Given the description of an element on the screen output the (x, y) to click on. 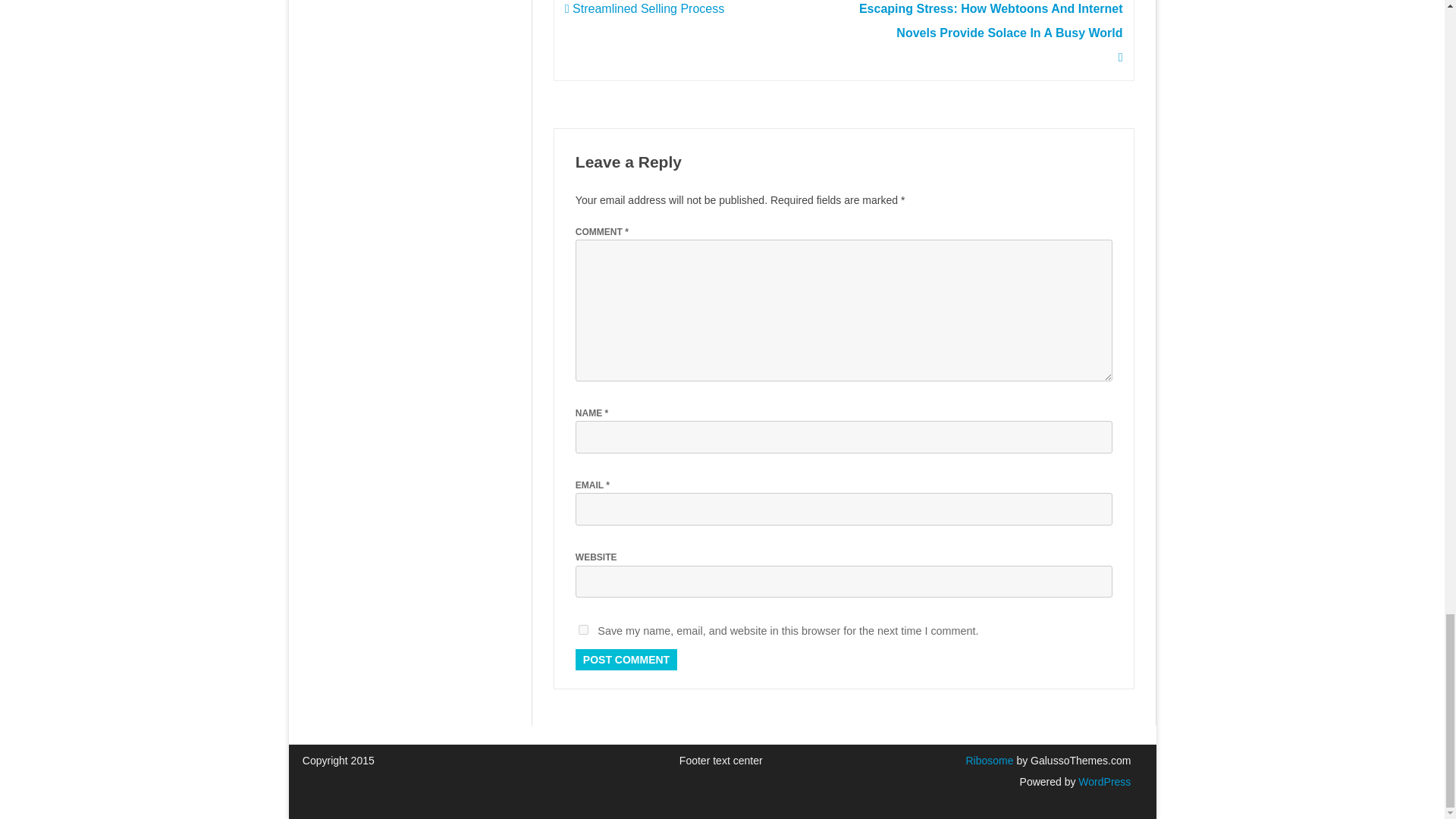
Post Comment (626, 659)
yes (583, 629)
